Given the description of an element on the screen output the (x, y) to click on. 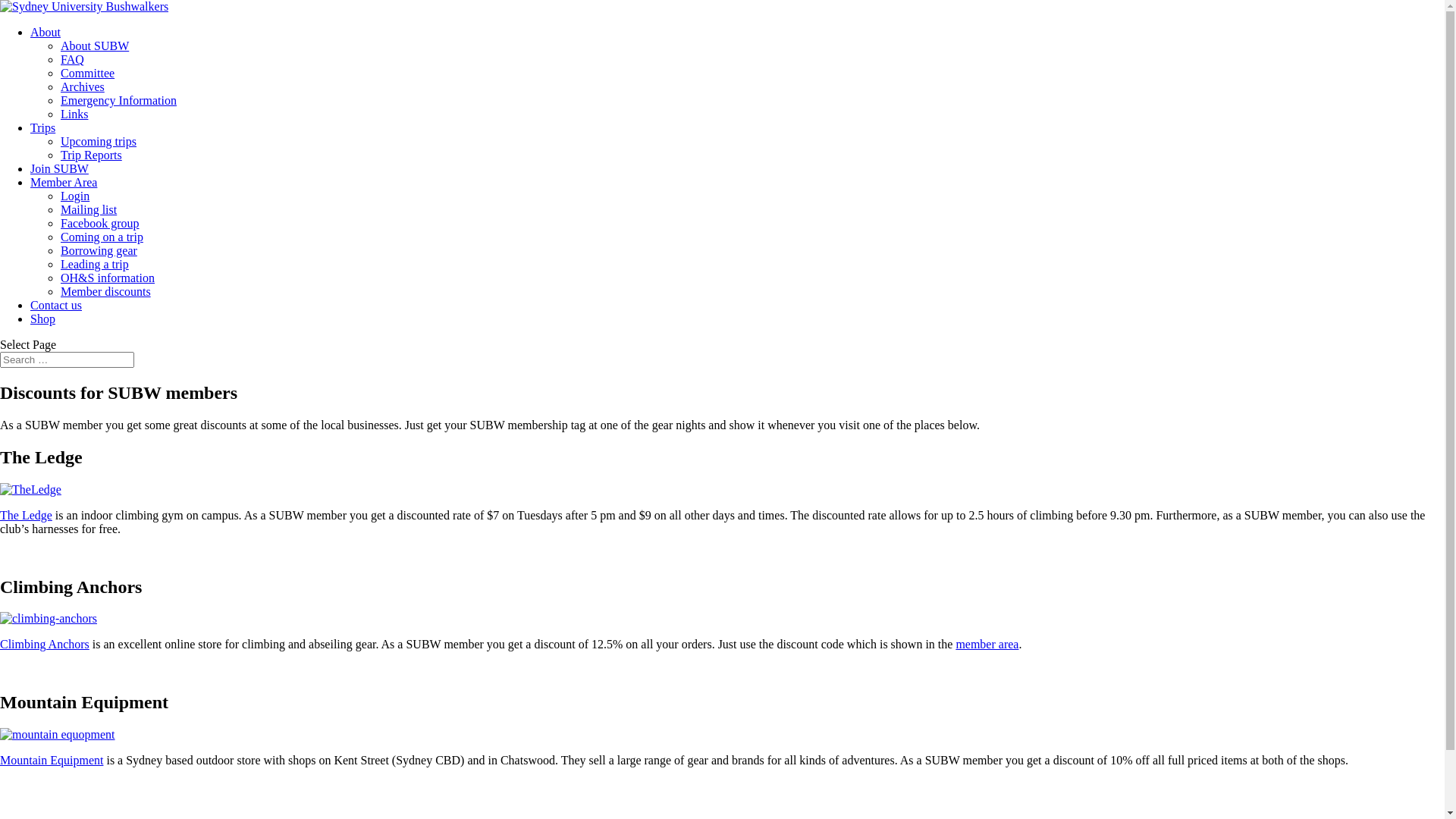
Archives Element type: text (82, 86)
FAQ Element type: text (72, 59)
Leading a trip Element type: text (94, 263)
Join SUBW Element type: text (59, 168)
Facebook group Element type: text (99, 222)
Search for: Element type: hover (67, 359)
Trip Reports Element type: text (91, 154)
Emergency Information Element type: text (118, 100)
Coming on a trip Element type: text (101, 236)
Mountain Equipment Element type: text (51, 759)
Member Area Element type: text (63, 181)
Borrowing gear Element type: text (98, 250)
Shop Element type: text (42, 318)
Committee Element type: text (87, 72)
Trips Element type: text (42, 127)
OH&S information Element type: text (107, 277)
Member discounts Element type: text (105, 291)
About Element type: text (45, 31)
About SUBW Element type: text (94, 45)
member area Element type: text (986, 643)
Links Element type: text (73, 113)
The Ledge Element type: text (26, 514)
Mailing list Element type: text (88, 209)
Upcoming trips Element type: text (98, 140)
Contact us Element type: text (55, 304)
Climbing Anchors Element type: text (44, 643)
Login Element type: text (74, 195)
